Given the description of an element on the screen output the (x, y) to click on. 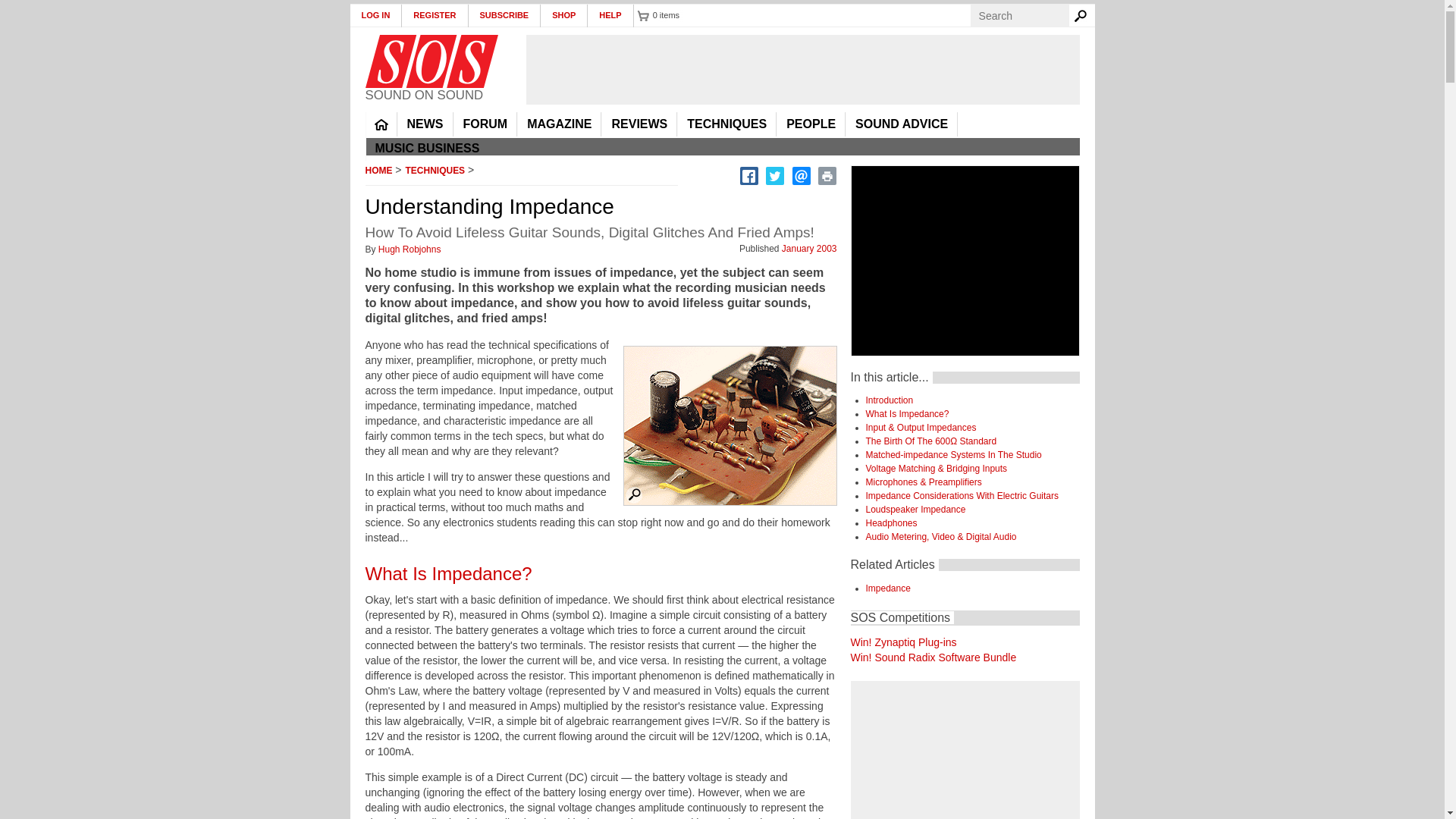
REGISTER (434, 15)
NEWS (424, 124)
HELP (610, 15)
FORUM (484, 124)
HOME (380, 124)
Search (1082, 15)
MAGAZINE (558, 124)
SUBSCRIBE (504, 15)
Search (1082, 15)
